Given the description of an element on the screen output the (x, y) to click on. 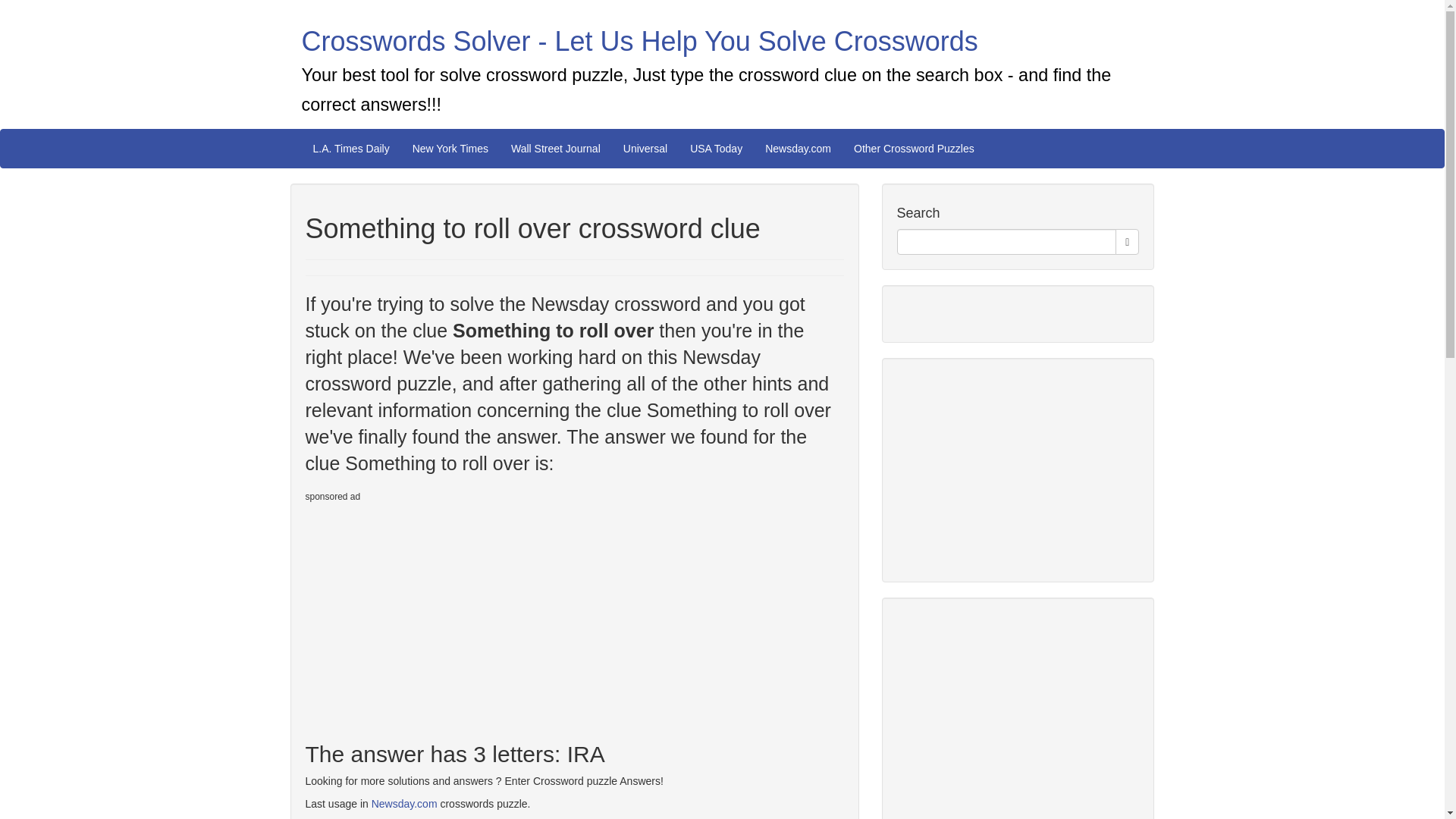
USA Today (716, 148)
Advertisement (1010, 467)
Advertisement (431, 615)
Newsday.com (798, 148)
Advertisement (1010, 715)
New York Times (450, 148)
Wall Street Journal (555, 148)
Universal (644, 148)
L.A. Times Daily (351, 148)
Newsday.com (404, 803)
Other Crossword Puzzles (914, 148)
